Given the description of an element on the screen output the (x, y) to click on. 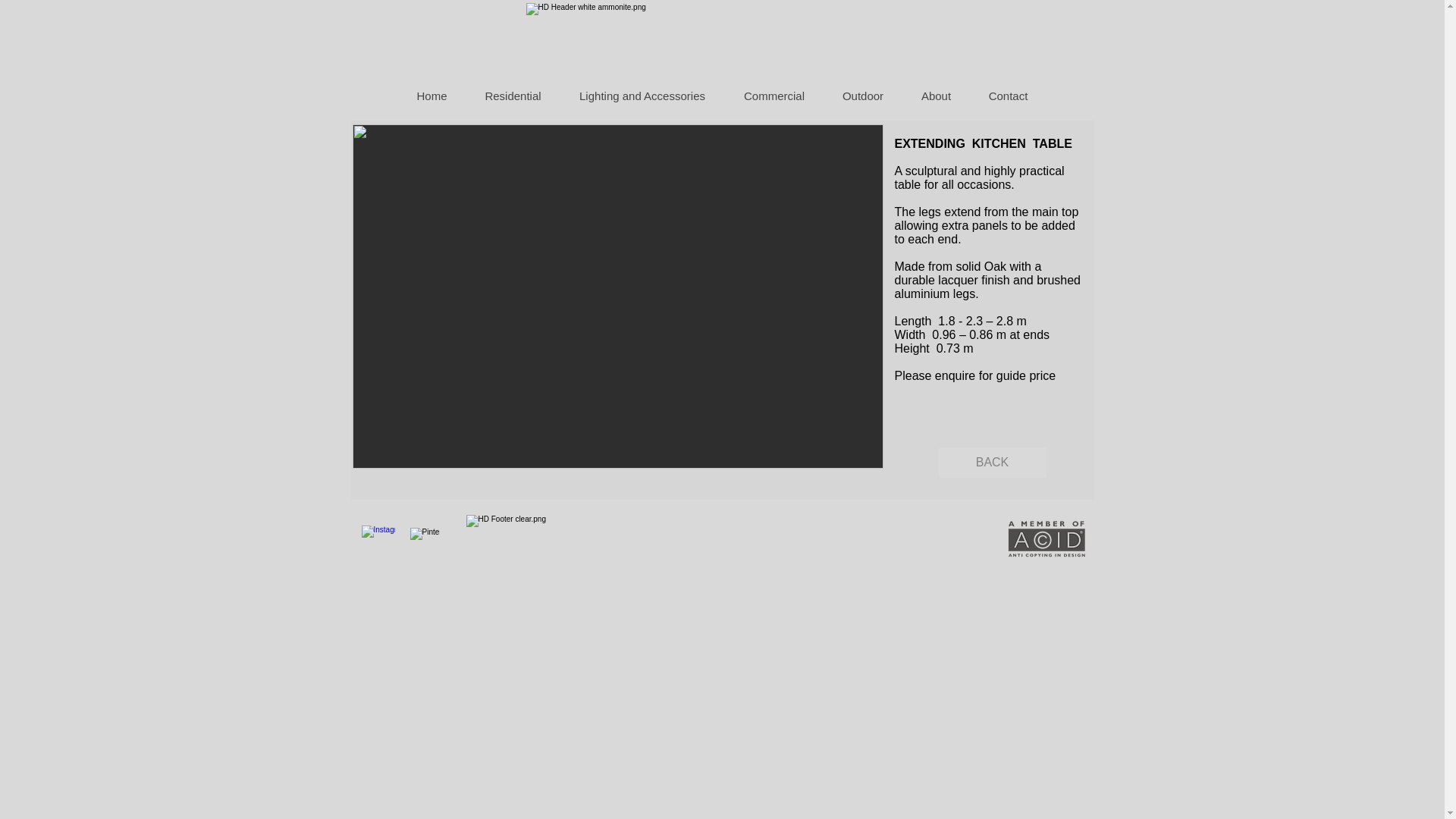
BACK (992, 462)
Outdoor (863, 95)
Commercial (774, 95)
Lighting and Accessories (642, 95)
Residential (512, 95)
About (935, 95)
Home (431, 95)
Wix.com (720, 538)
Contact (1007, 95)
